Given the description of an element on the screen output the (x, y) to click on. 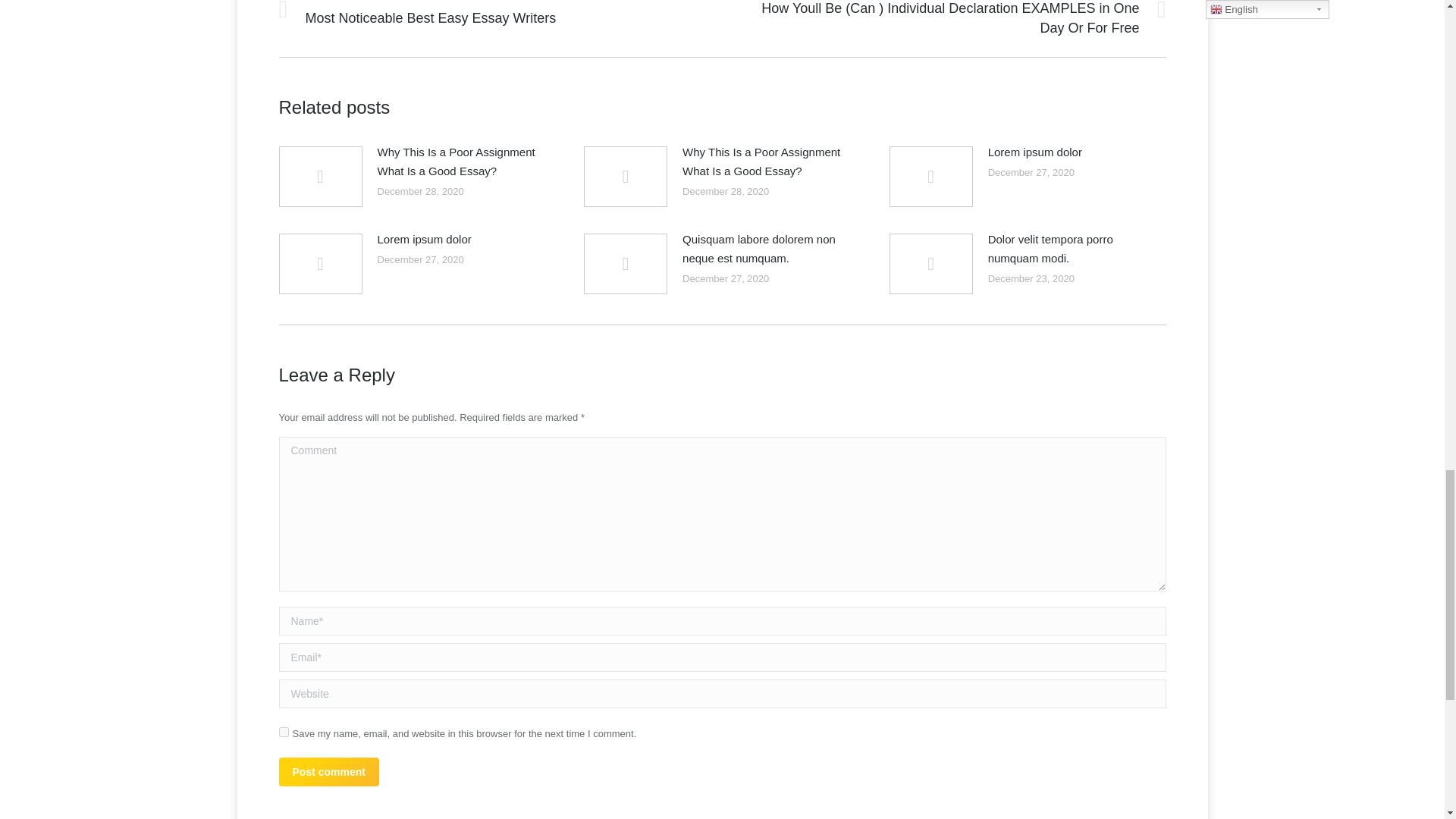
yes (283, 732)
Why This Is a Poor Assignment What Is a Good Essay? (462, 161)
Lorem ipsum dolor (1034, 151)
Why This Is a Poor Assignment What Is a Good Essay? (766, 161)
